Given the description of an element on the screen output the (x, y) to click on. 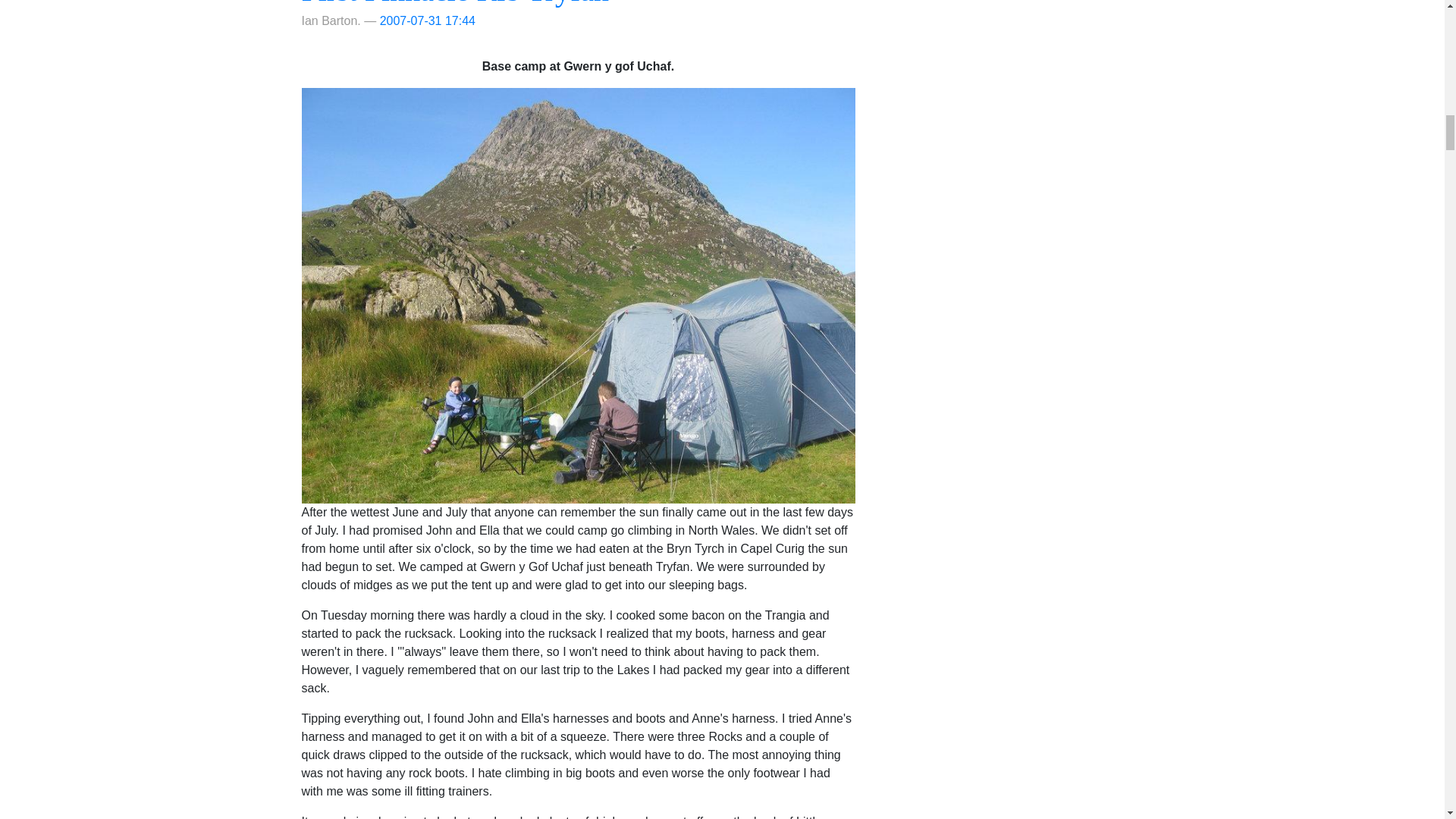
2007-07-31 17:44 (428, 20)
2007-07-31 17:44 (428, 20)
First Pinnacle Rib Tryfan (455, 3)
